Given the description of an element on the screen output the (x, y) to click on. 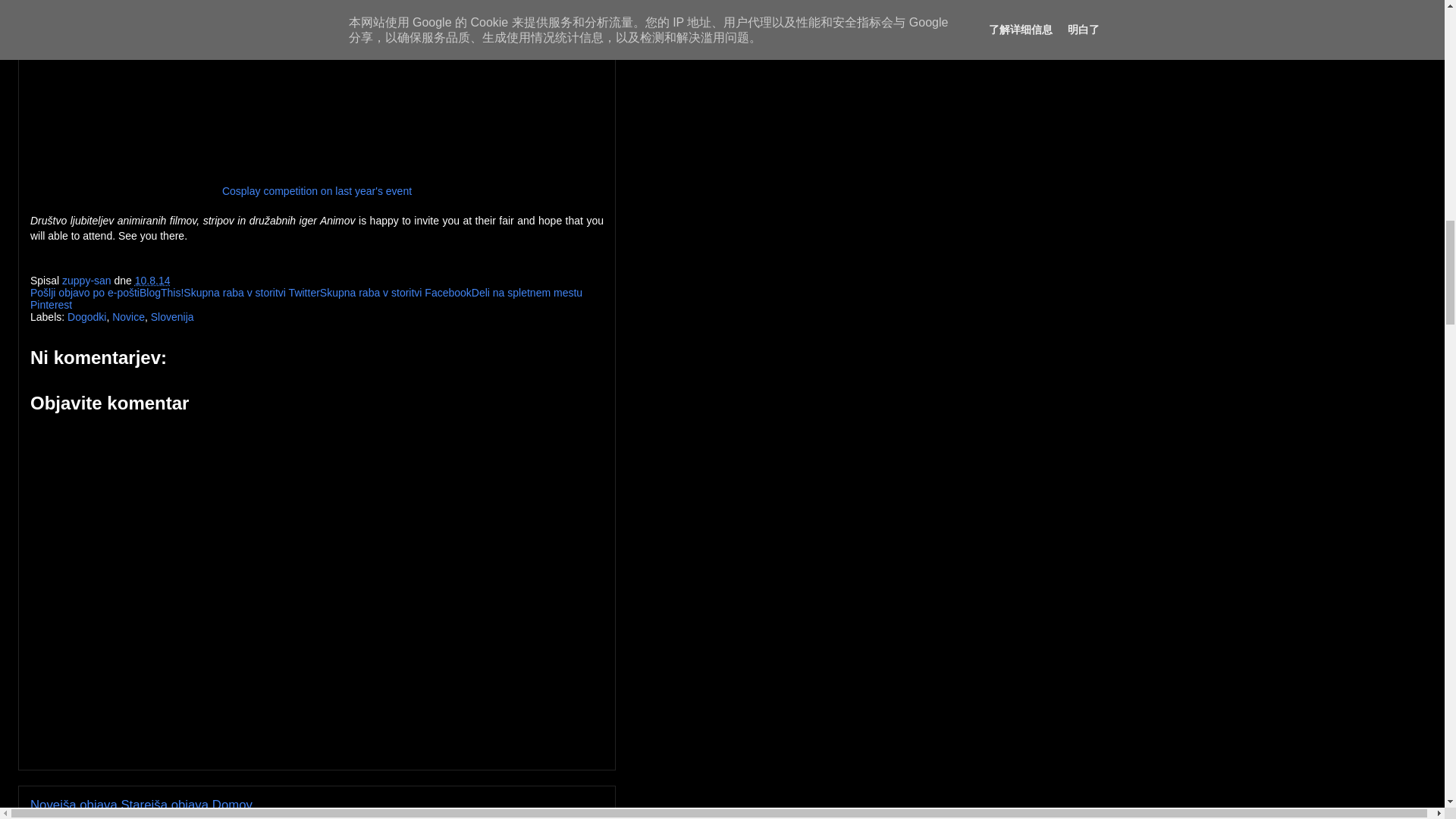
BlogThis! (161, 292)
Domov (231, 804)
Deli na spletnem mestu Pinterest (306, 298)
Skupna raba v storitvi Twitter (250, 292)
author profile (87, 280)
Cosplay competition on last year's event (317, 191)
Skupna raba v storitvi Twitter (250, 292)
Novice (128, 316)
10.8.14 (152, 280)
Dogodki (86, 316)
BlogThis! (161, 292)
permanent link (152, 280)
zuppy-san (87, 280)
Slovenija (172, 316)
Skupna raba v storitvi Facebook (395, 292)
